Given the description of an element on the screen output the (x, y) to click on. 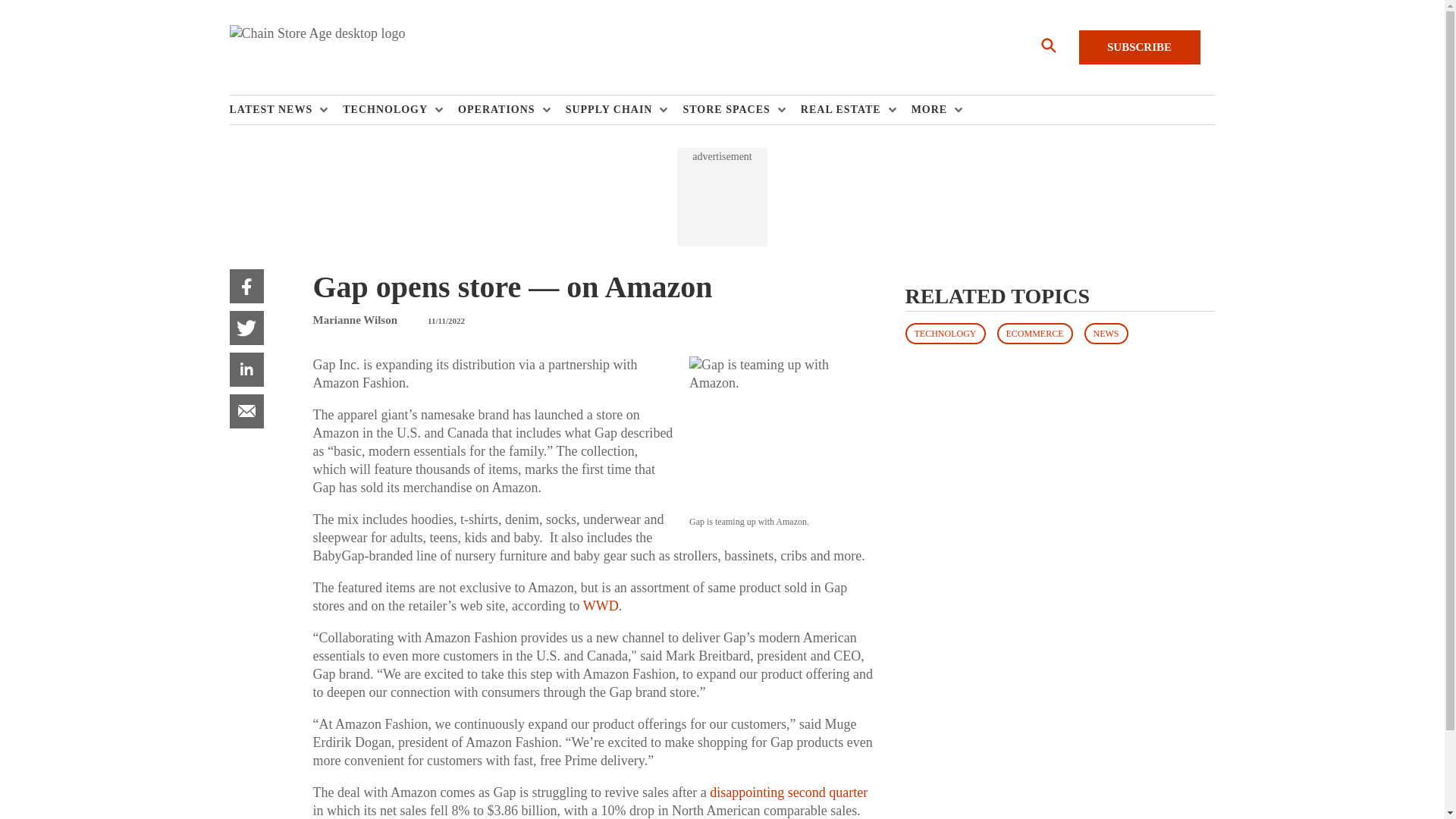
SUPPLY CHAIN (613, 109)
email (245, 410)
OPERATIONS (500, 109)
facebook (245, 286)
TECHNOLOGY (388, 109)
LATEST NEWS (274, 109)
STORE SPACES (729, 109)
twitter (245, 327)
linkedIn (245, 369)
SUBSCRIBE (1138, 47)
